Given the description of an element on the screen output the (x, y) to click on. 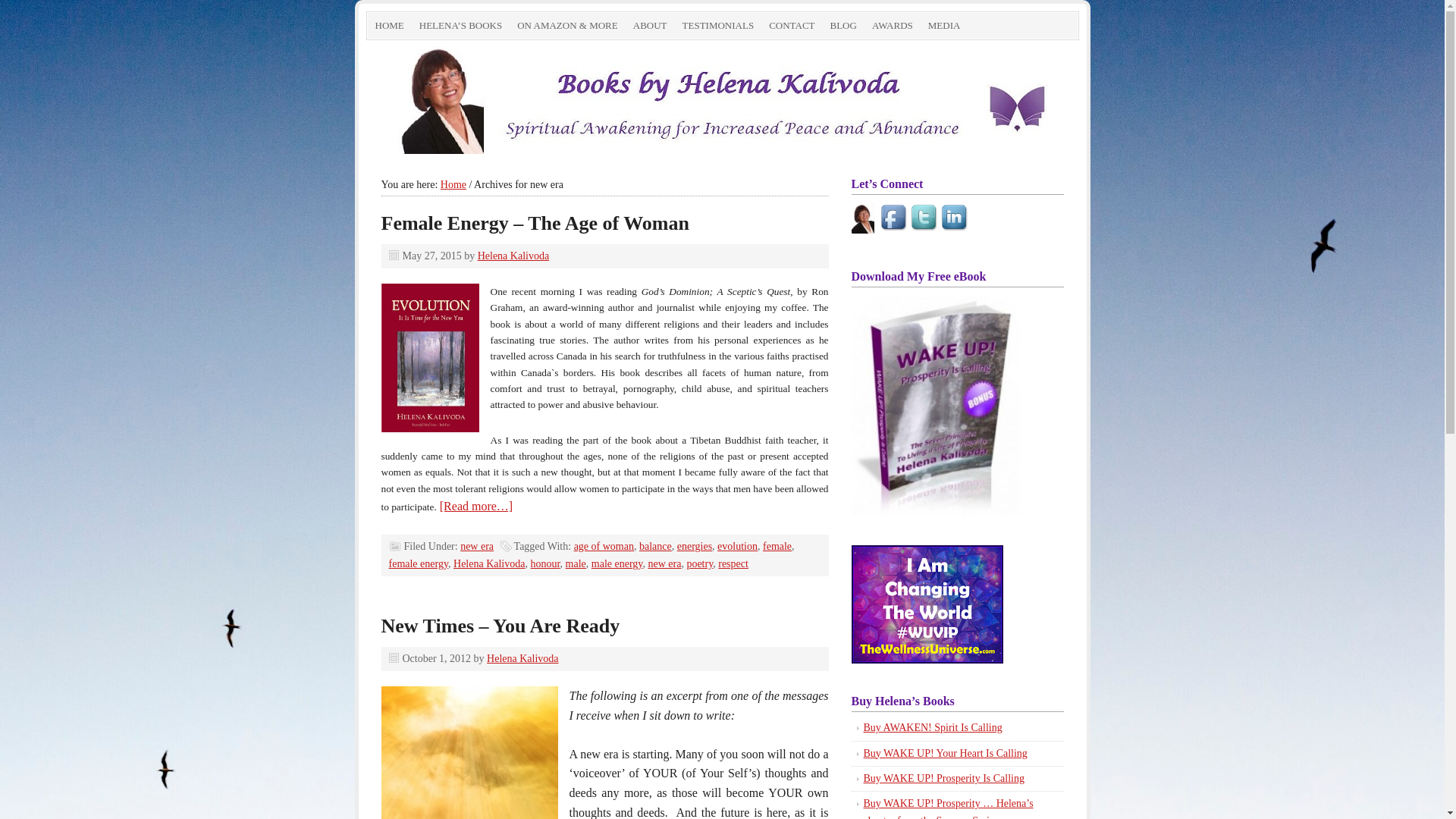
poetry Element type: text (699, 563)
Helena Kalivoda Element type: text (488, 563)
new era Element type: text (476, 546)
BLOG Element type: text (842, 25)
Buy WAKE UP! Prosperity Is Calling Element type: text (942, 778)
facebook page Element type: hover (861, 217)
ON AMAZON & MORE Element type: text (567, 25)
male energy Element type: text (617, 563)
energies Element type: text (694, 546)
twitter Element type: hover (925, 218)
HOME Element type: text (389, 25)
CONTACT Element type: text (791, 25)
Home Element type: text (453, 184)
AWARDS Element type: text (892, 25)
Buy AWAKEN! Spirit Is Calling Element type: text (931, 727)
Helena Kalivoda Element type: text (513, 255)
TESTIMONIALS Element type: text (718, 25)
honour Element type: text (544, 563)
age of woman Element type: text (603, 546)
linkedin Element type: hover (955, 218)
respect Element type: text (733, 563)
facebook Element type: hover (894, 218)
Awaken by Helena Element type: text (721, 96)
male Element type: text (575, 563)
new era Element type: text (663, 563)
evolution Element type: text (737, 546)
Buy WAKE UP! Your Heart Is Calling Element type: text (944, 753)
MEDIA Element type: text (944, 25)
female Element type: text (776, 546)
female energy Element type: text (418, 563)
Helena Kalivoda Element type: text (522, 658)
ABOUT Element type: text (649, 25)
balance Element type: text (655, 546)
